Given the description of an element on the screen output the (x, y) to click on. 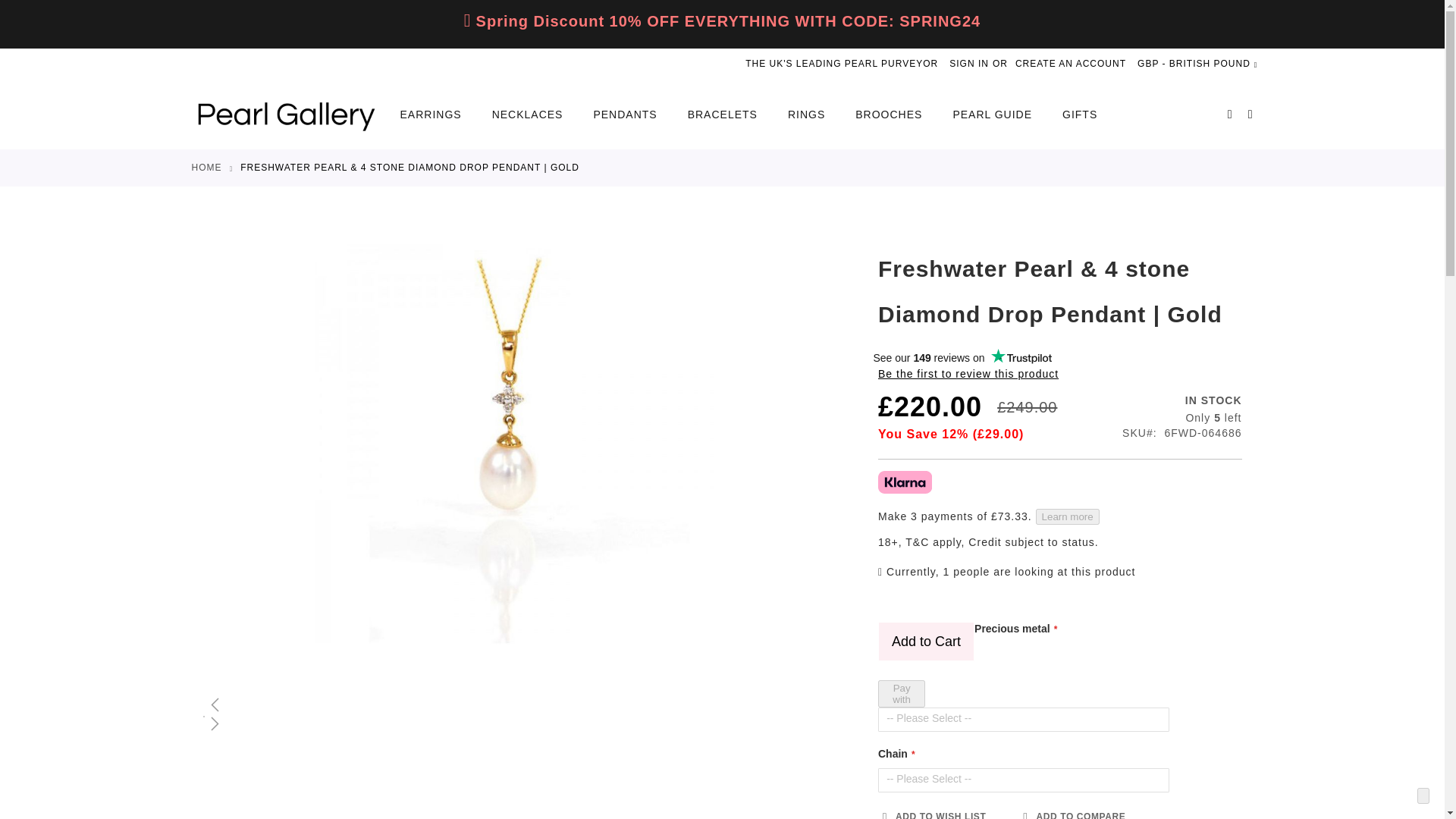
SIGN IN (968, 63)
Add to Cart (925, 640)
Go to Home Page (205, 167)
EARRINGS (438, 114)
Customer reviews powered by Trustpilot (961, 357)
Only 5 left (1181, 418)
CREATE AN ACCOUNT (1069, 63)
Pearl Gallery (285, 114)
Availability (1181, 400)
NECKLACES (527, 114)
